Given the description of an element on the screen output the (x, y) to click on. 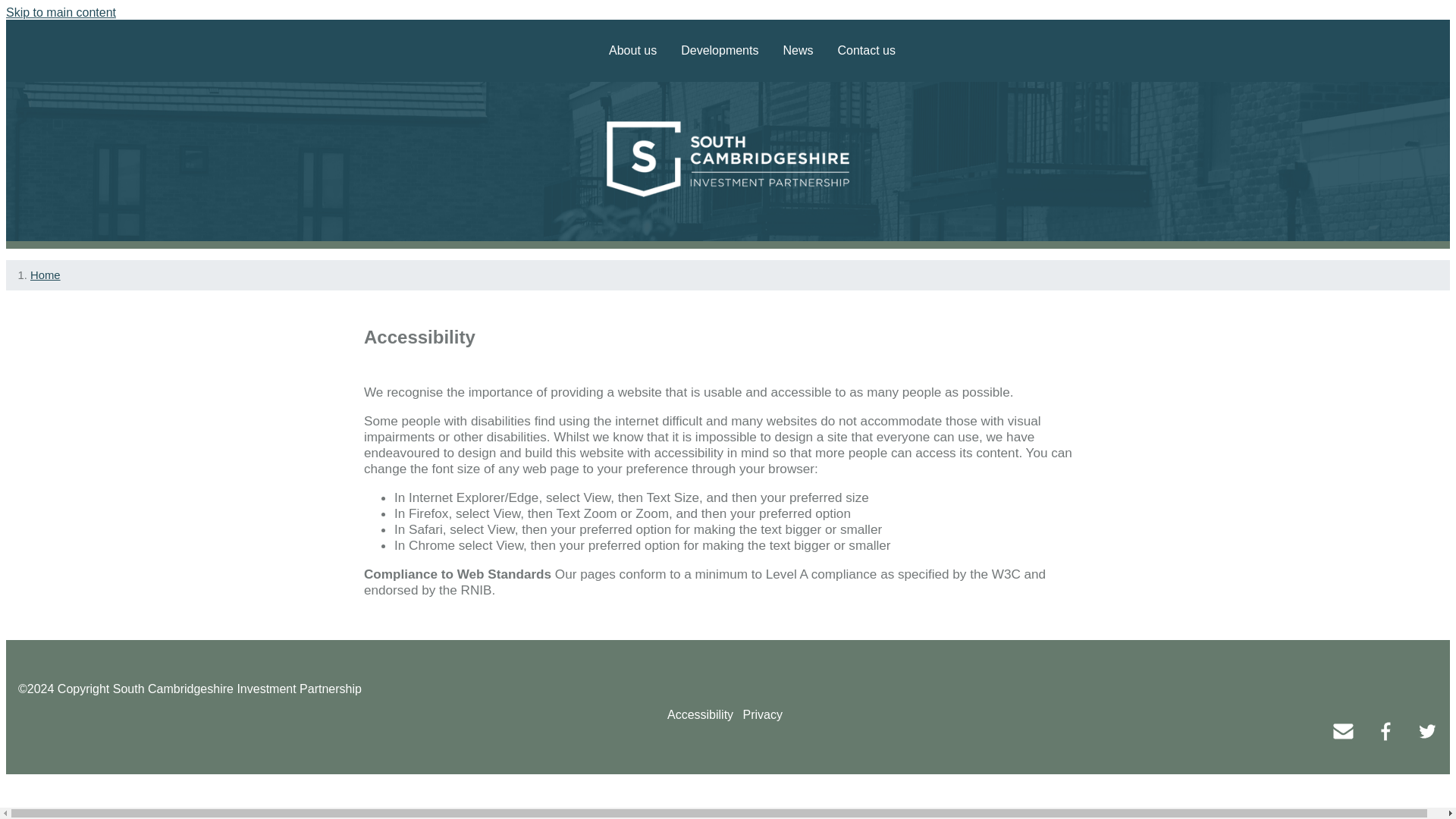
email (1334, 736)
Skip to main content (60, 11)
Accessibility (702, 714)
Privacy (765, 714)
About us (620, 50)
Developments (707, 50)
Contact us (853, 50)
News (785, 50)
twitter (1418, 736)
Home (45, 275)
